Given the description of an element on the screen output the (x, y) to click on. 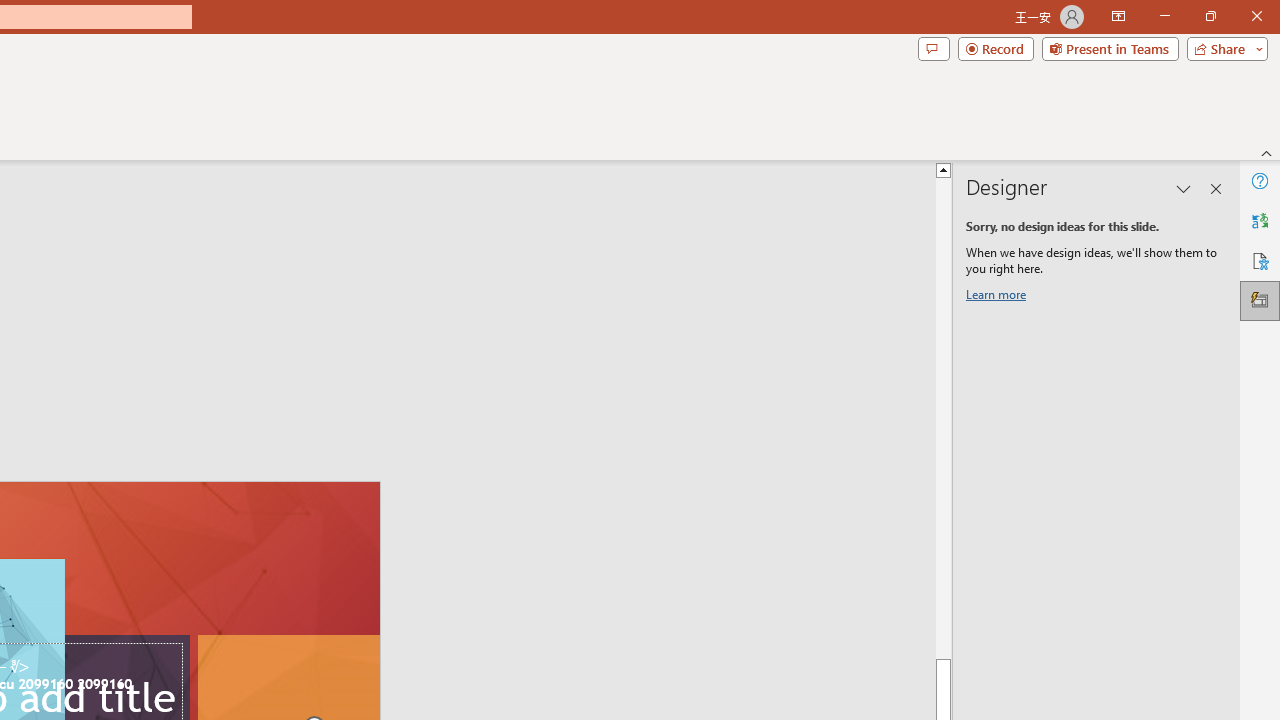
Translator (1260, 220)
Page up (1230, 417)
Learn more (998, 297)
